Given the description of an element on the screen output the (x, y) to click on. 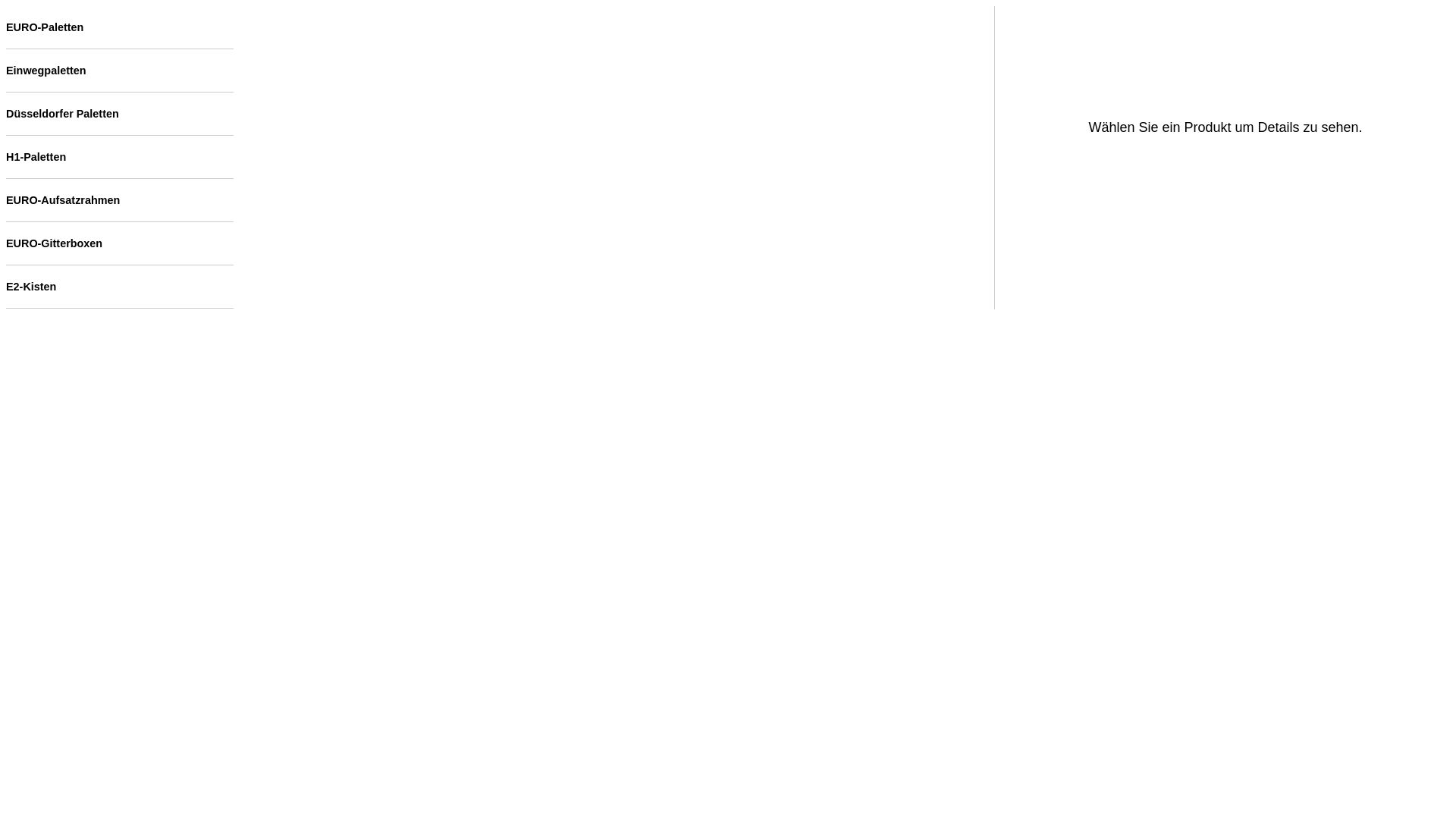
EURO-Paletten Element type: text (119, 27)
E2-Kisten Element type: text (119, 286)
Einwegpaletten Element type: text (119, 70)
EURO-Aufsatzrahmen Element type: text (119, 199)
H1-Paletten Element type: text (119, 156)
EURO-Gitterboxen Element type: text (119, 243)
